Given the description of an element on the screen output the (x, y) to click on. 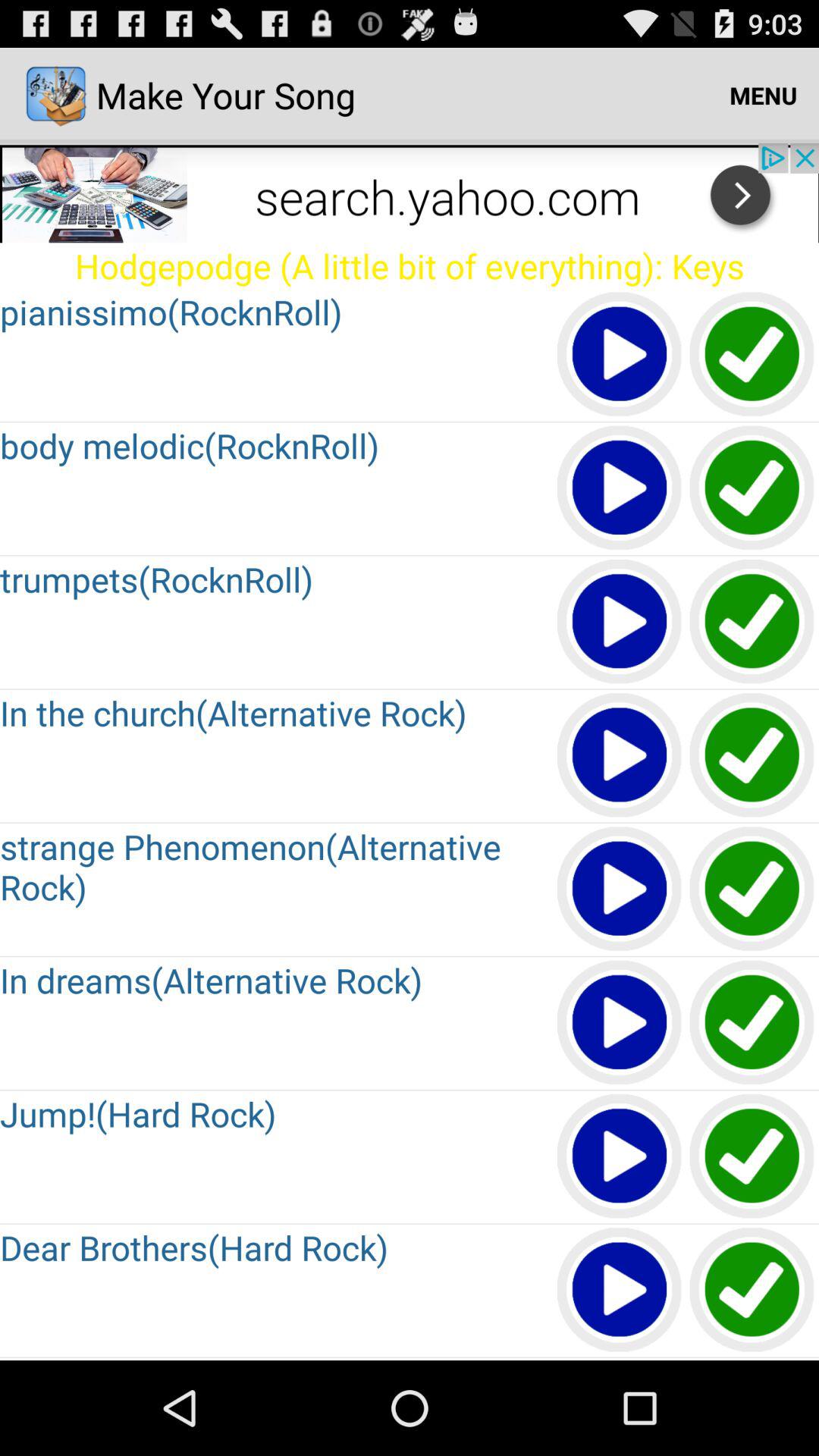
advertisement (409, 192)
